Given the description of an element on the screen output the (x, y) to click on. 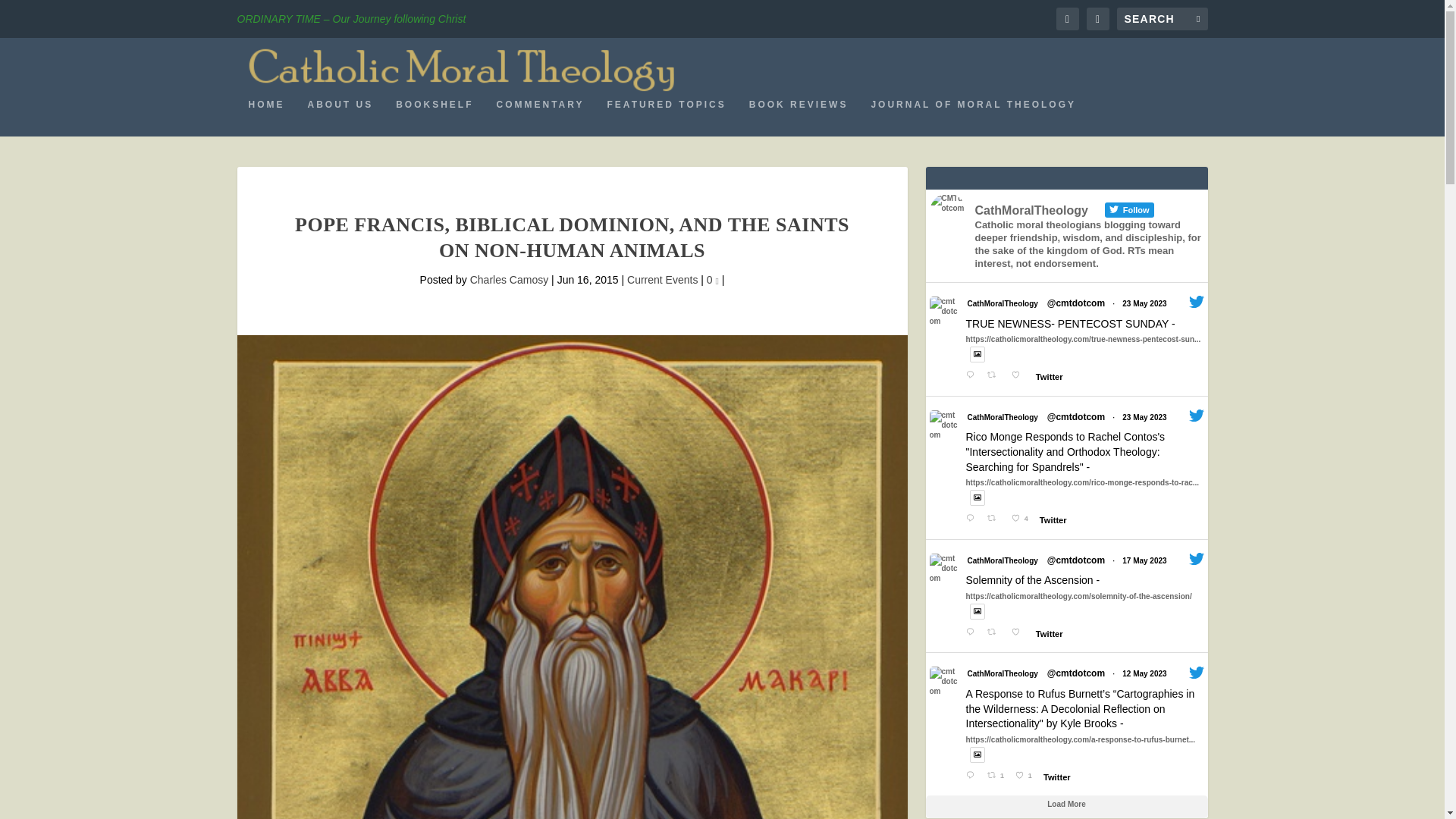
0 (712, 279)
BOOKSHELF (434, 117)
comment count (717, 281)
Posts by Charles Camosy (509, 279)
Current Events (662, 279)
COMMENTARY (540, 117)
BOOK REVIEWS (798, 117)
JOURNAL OF MORAL THEOLOGY (972, 117)
ABOUT US (340, 117)
Charles Camosy (509, 279)
FEATURED TOPICS (666, 117)
Search for: (1161, 18)
HOME (266, 117)
